Given the description of an element on the screen output the (x, y) to click on. 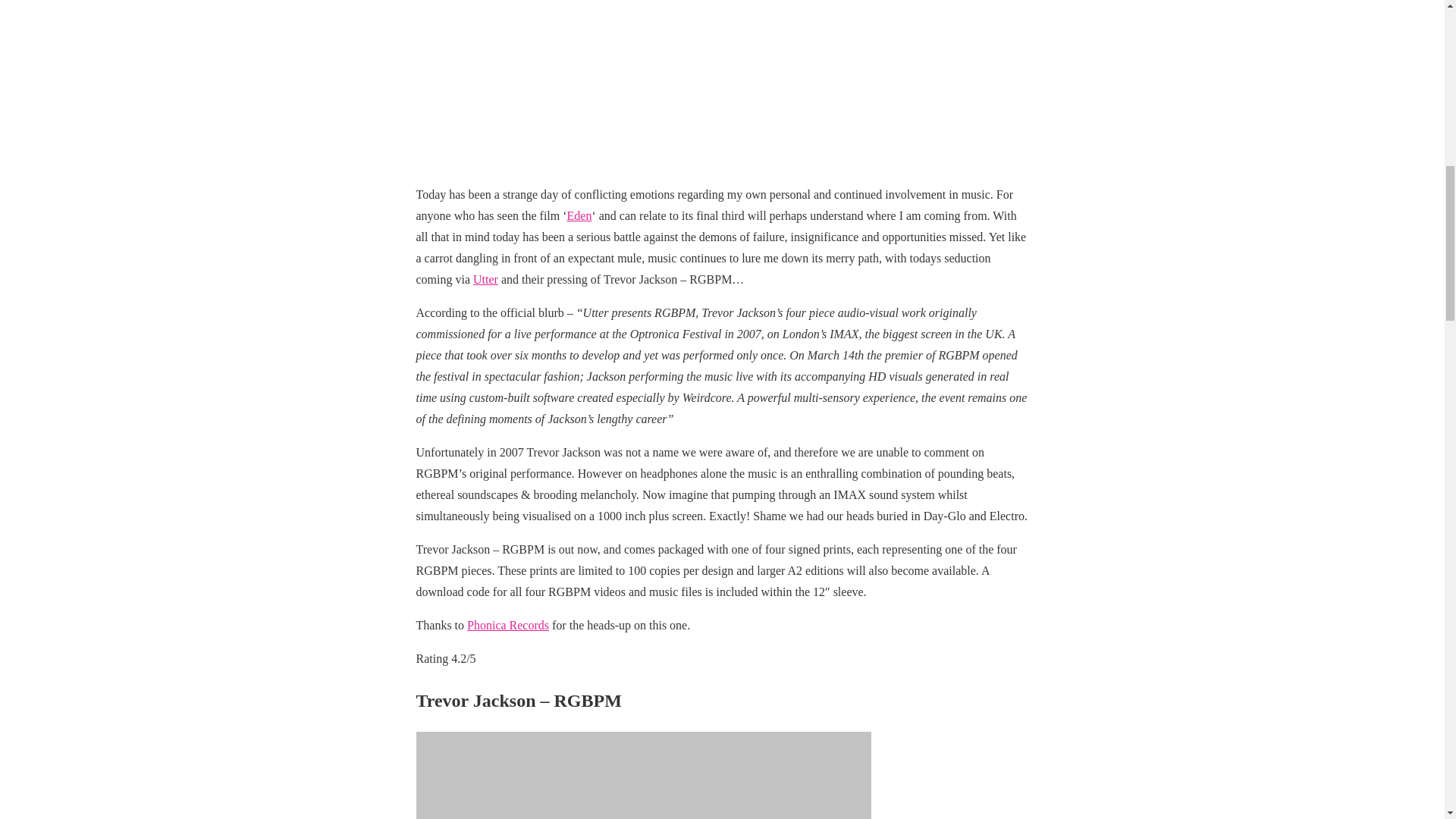
Utter (485, 278)
Phonica Records (507, 625)
Eden (579, 215)
